Given the description of an element on the screen output the (x, y) to click on. 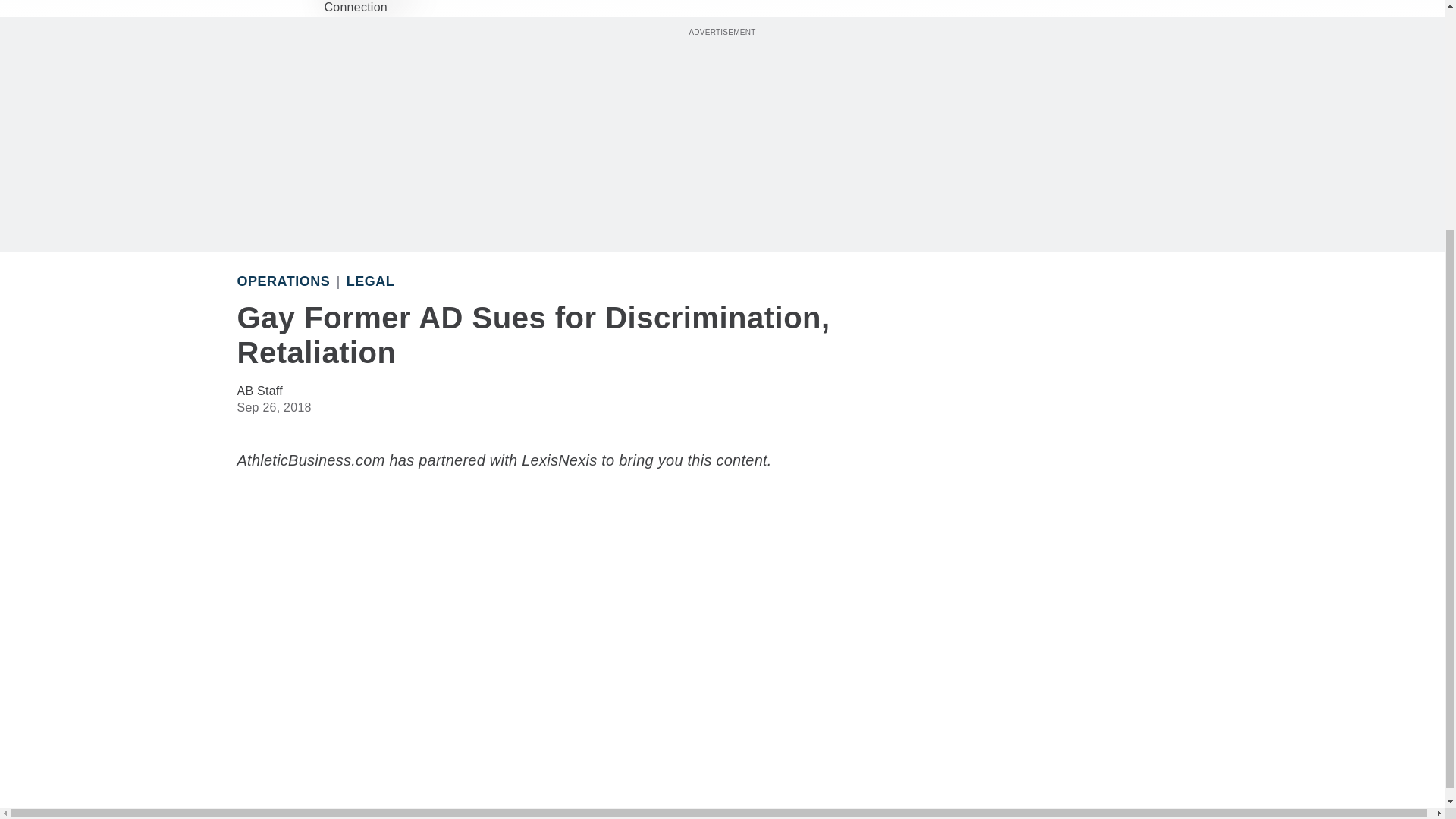
Operations (282, 281)
